Given the description of an element on the screen output the (x, y) to click on. 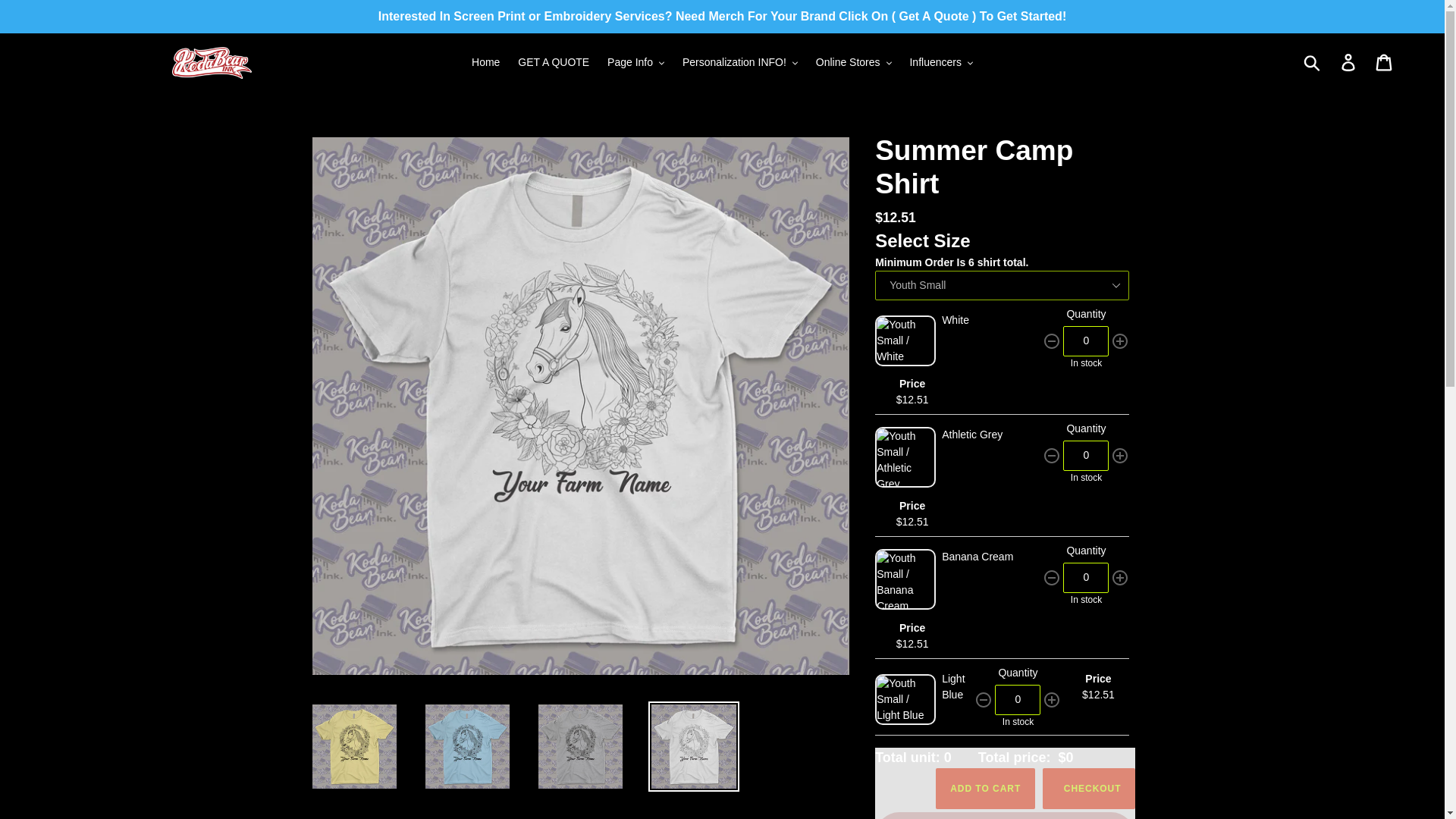
GET A QUOTE (553, 62)
0 (1085, 455)
Home (485, 62)
0 (1085, 340)
0 (1085, 577)
Submit (1313, 61)
Log in (1349, 61)
Cart (1385, 61)
0 (1017, 699)
